Given the description of an element on the screen output the (x, y) to click on. 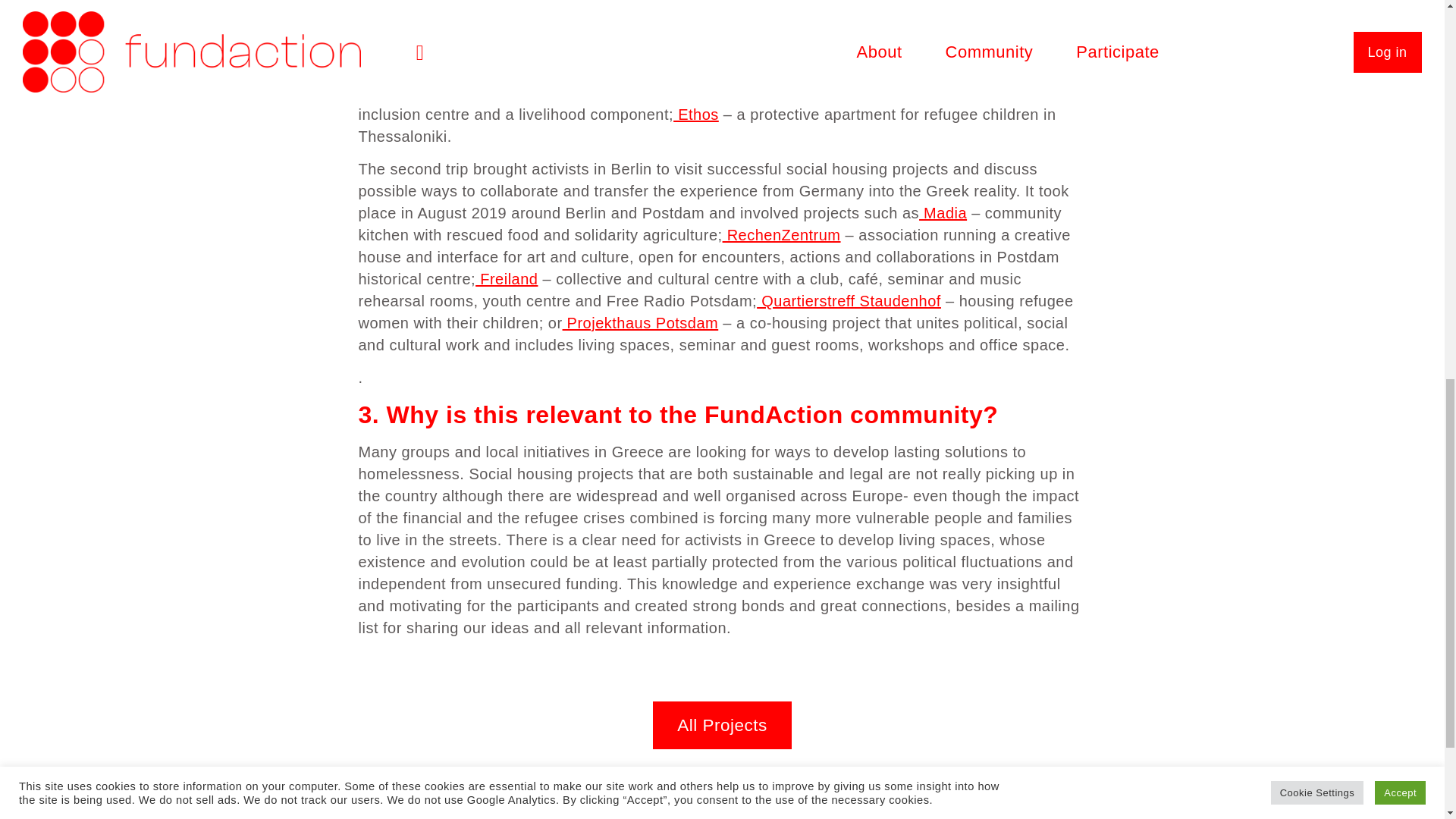
Perichoresis (959, 26)
All Projects (722, 725)
Projekthaus Potsdam (640, 322)
Omnes (982, 70)
Madia (942, 212)
RechenZentrum (781, 234)
Co-HabAthens (698, 6)
Freiland (506, 279)
Quartierstreff Staudenhof (848, 300)
Ethos (695, 114)
